Given the description of an element on the screen output the (x, y) to click on. 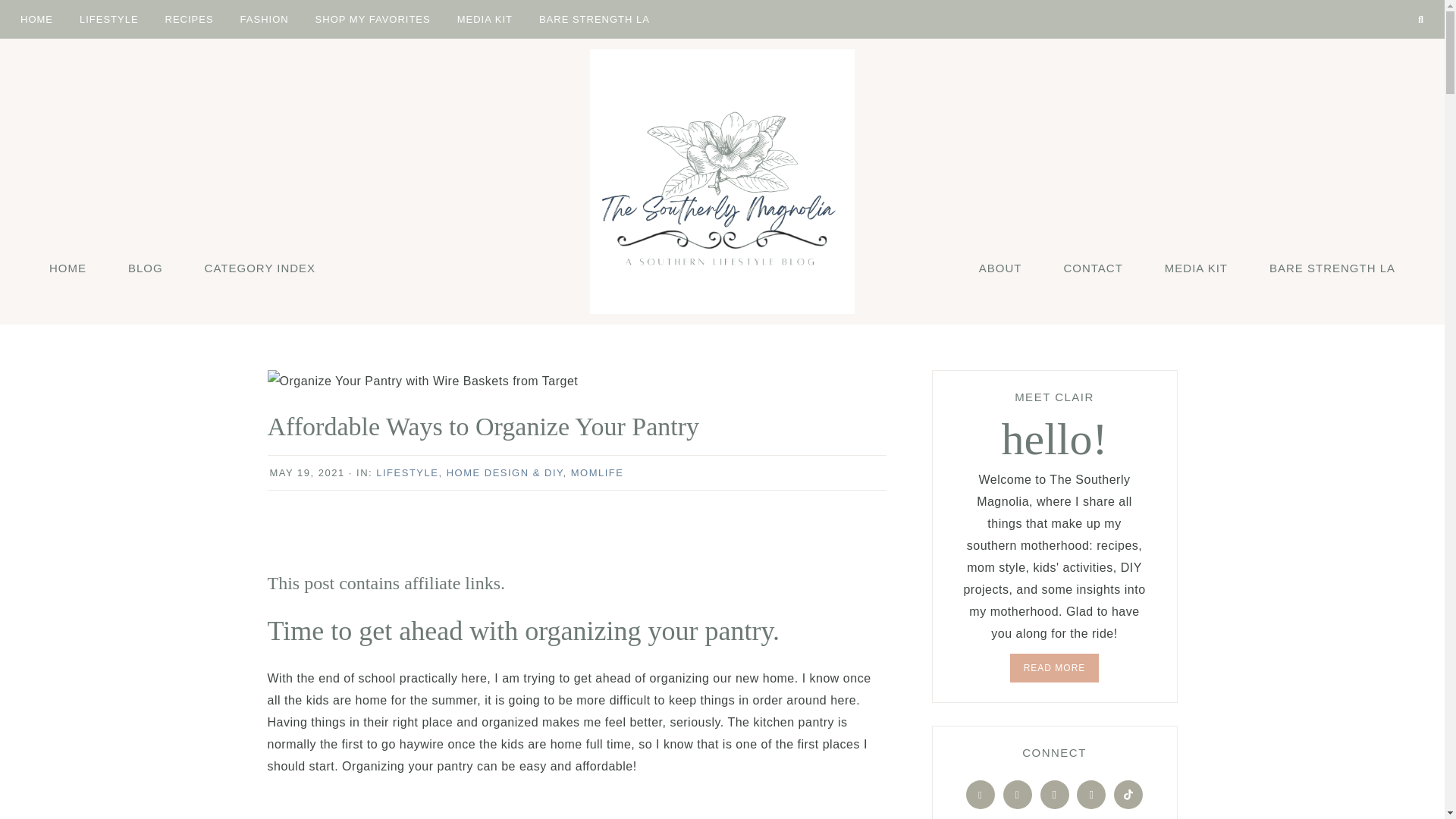
MEDIA KIT (484, 18)
RECIPES (189, 18)
FASHION (263, 18)
HOME (36, 18)
Facebook (1361, 3)
Twitter (1372, 3)
BARE STRENGTH LA (594, 18)
Instagram (1397, 3)
SHOP MY FAVORITES (373, 18)
